Given the description of an element on the screen output the (x, y) to click on. 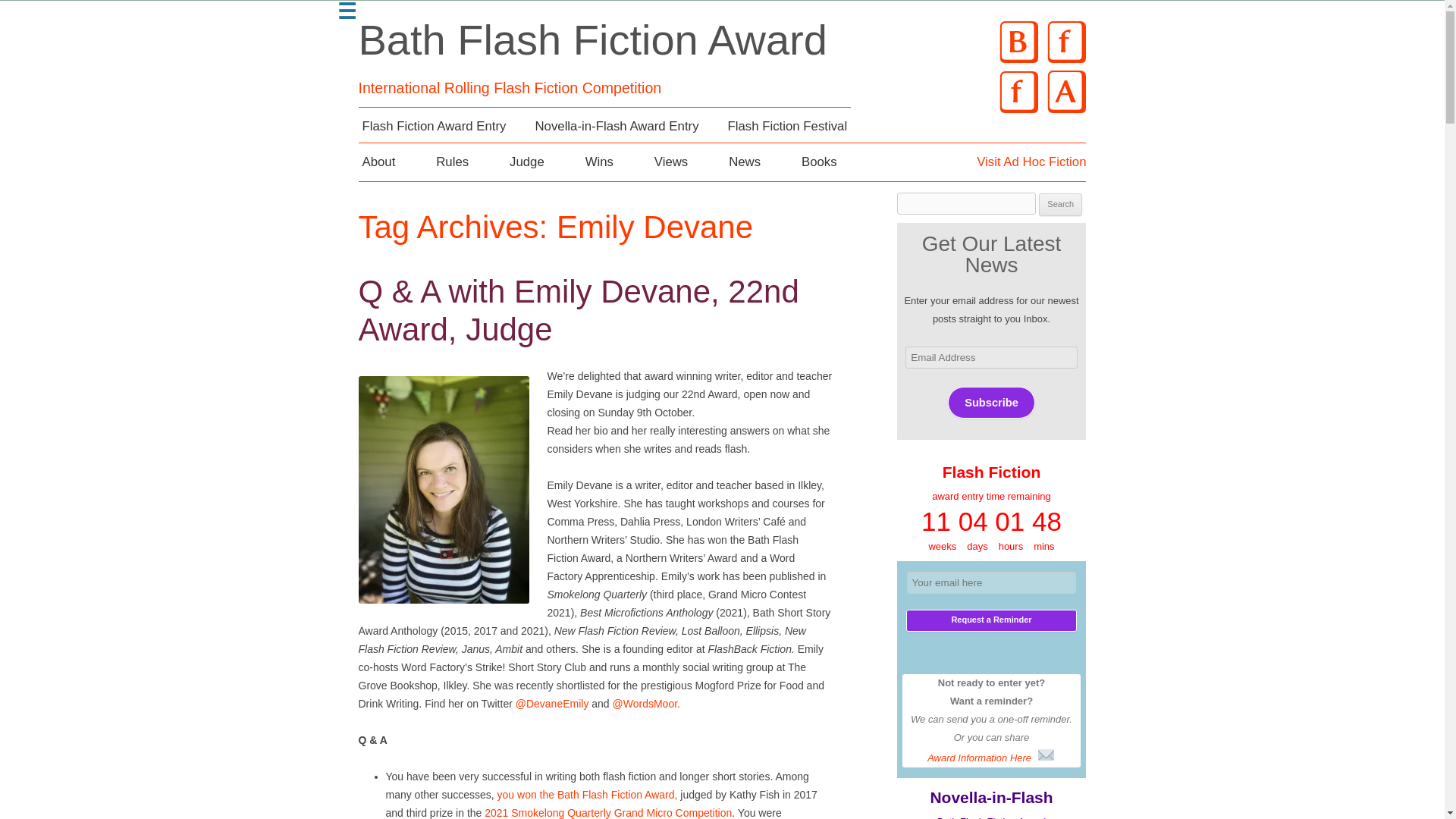
Books (819, 161)
Flash Fiction Festival (787, 125)
Views (670, 161)
About (378, 161)
Flash Fiction Award Entry (433, 125)
2021 Smokelong Quarterly Grand Micro Competition (608, 812)
Wins (598, 161)
Novella-in-Flash Award Entry (616, 125)
Rules (451, 161)
Bath Flash Fiction Award (592, 39)
you won the Bath Flash Fiction Award, (589, 794)
News (744, 161)
Search (1060, 204)
Judge (526, 161)
